Given the description of an element on the screen output the (x, y) to click on. 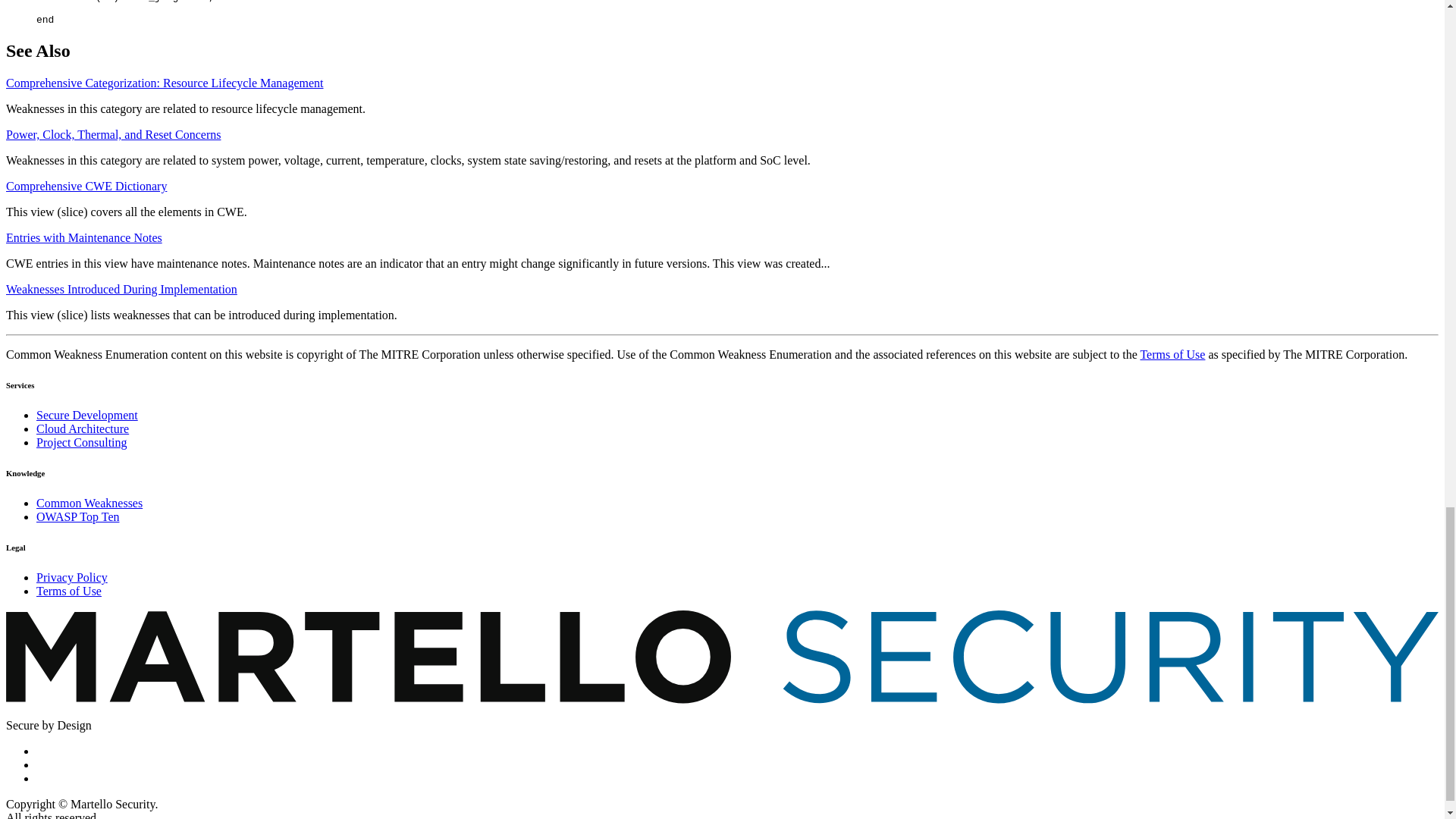
Common Weaknesses (89, 502)
OWASP Top Ten (77, 516)
Entries with Maintenance Notes (83, 237)
Power, Clock, Thermal, and Reset Concerns (113, 133)
Comprehensive Categorization: Resource Lifecycle Management (164, 82)
Secure Development (87, 414)
Cloud Architecture (82, 428)
Terms of Use (1172, 354)
Independent Hands-On Expertise (82, 441)
Terms of Use (68, 590)
Project Consulting (82, 441)
Capitalise on your Cloud Investment (82, 428)
Better Security through Better Design (87, 414)
Entries with Maintenance Notes (83, 237)
Privacy Policy (71, 576)
